Given the description of an element on the screen output the (x, y) to click on. 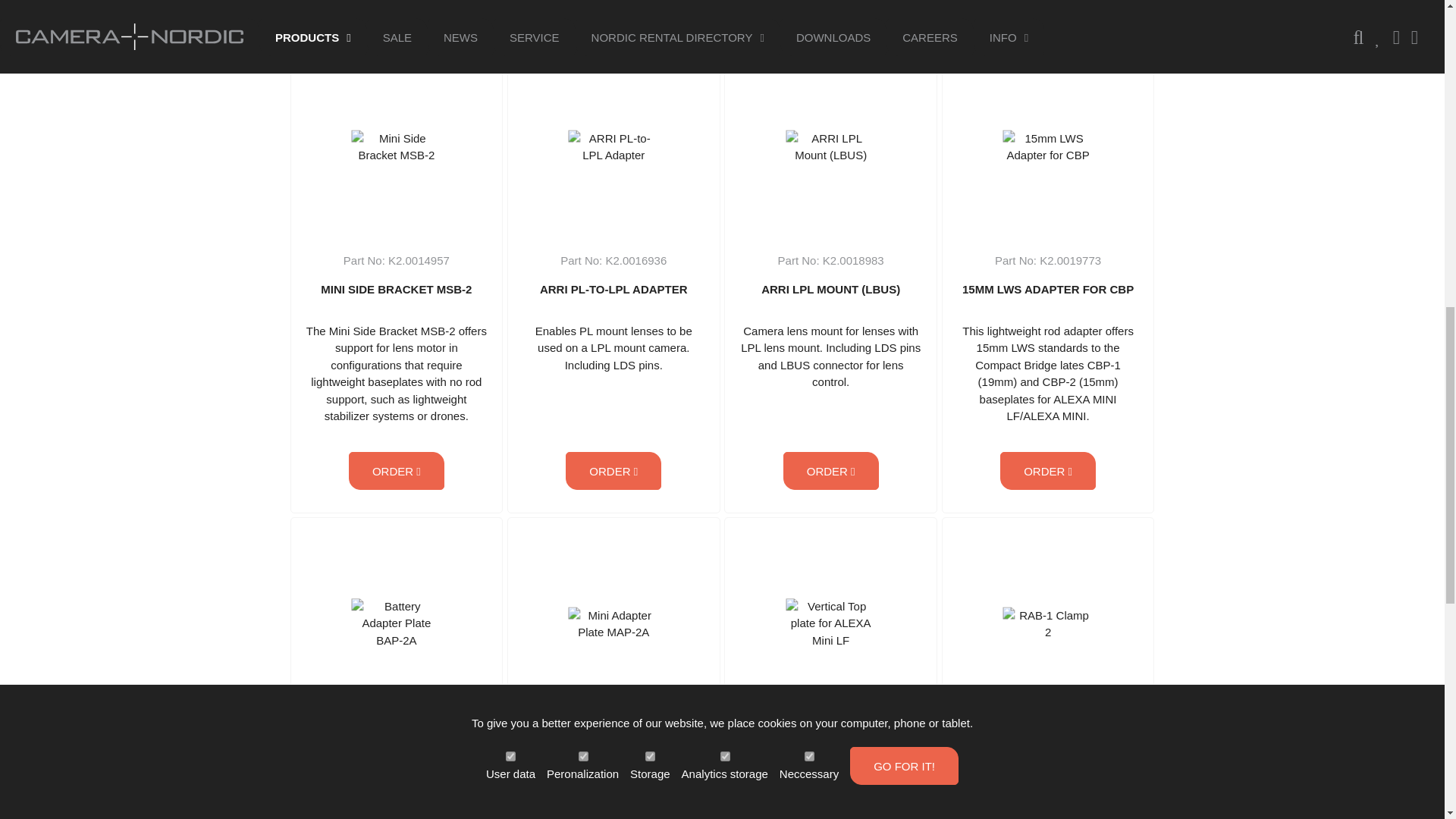
Mini Adapter Plate MAP-2A (614, 623)
Vertical Top plate for ALEXA Mini LF (831, 624)
15mm LWS Adapter for CBP (1048, 146)
Battery Adapter Plate BAP-2A (395, 624)
ARRI PL-to-LPL Adapter (614, 146)
Mini Side Bracket MSB-2 (395, 146)
RAB-1 Clamp 2 (1048, 623)
